Given the description of an element on the screen output the (x, y) to click on. 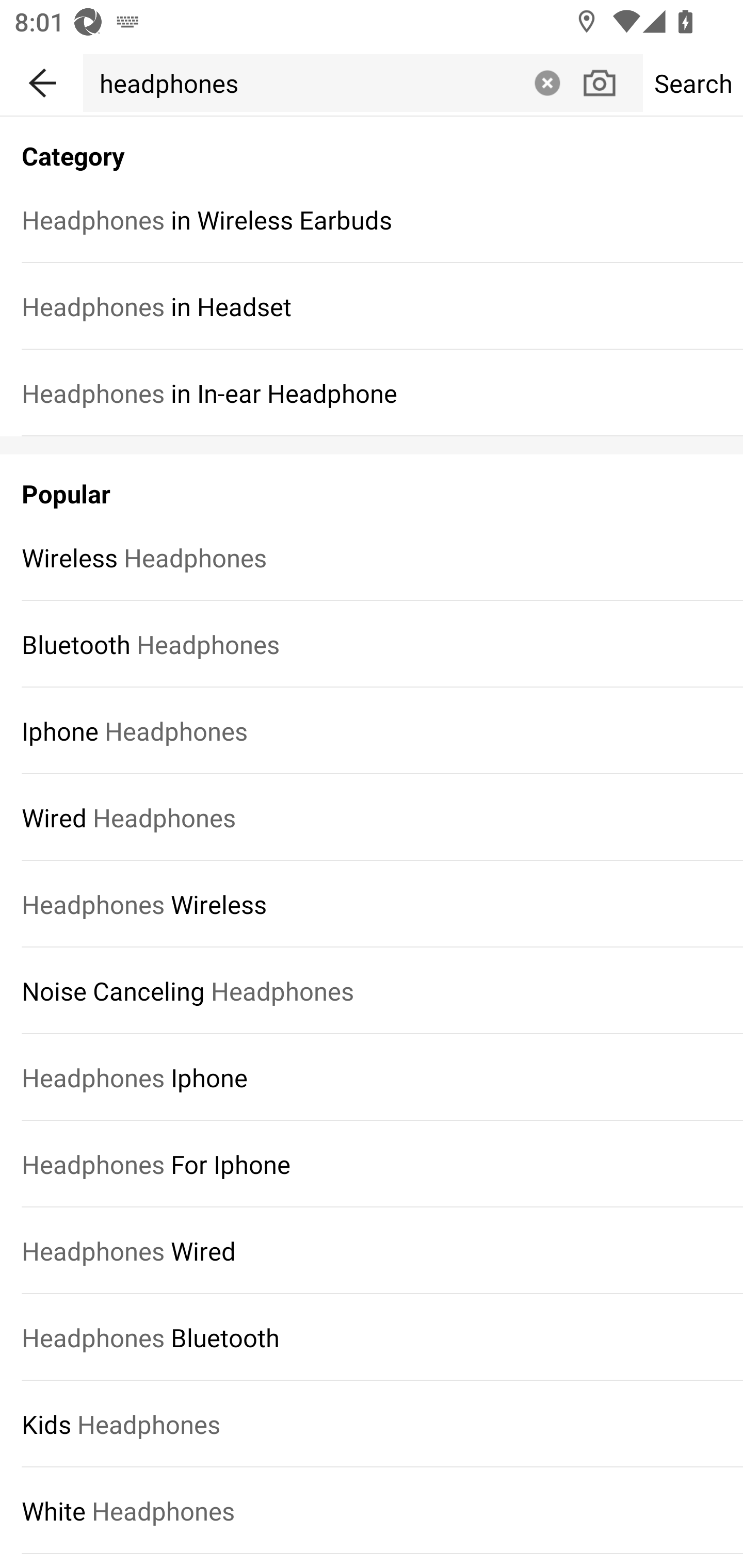
BACK (41, 79)
headphones (304, 82)
Clear (546, 82)
Search (692, 82)
Headphones in Wireless Earbuds (371, 219)
Headphones in Headset (371, 306)
Headphones in In-ear Headphone (371, 392)
Wireless Headphones (371, 557)
Bluetooth Headphones (371, 643)
Iphone Headphones (371, 730)
Wired Headphones (371, 817)
Headphones Wireless (371, 903)
Noise Canceling Headphones (371, 990)
Headphones Iphone (371, 1077)
Headphones For Iphone (371, 1164)
Headphones Wired (371, 1250)
Headphones Bluetooth (371, 1337)
Kids Headphones (371, 1424)
White Headphones (371, 1510)
